Given the description of an element on the screen output the (x, y) to click on. 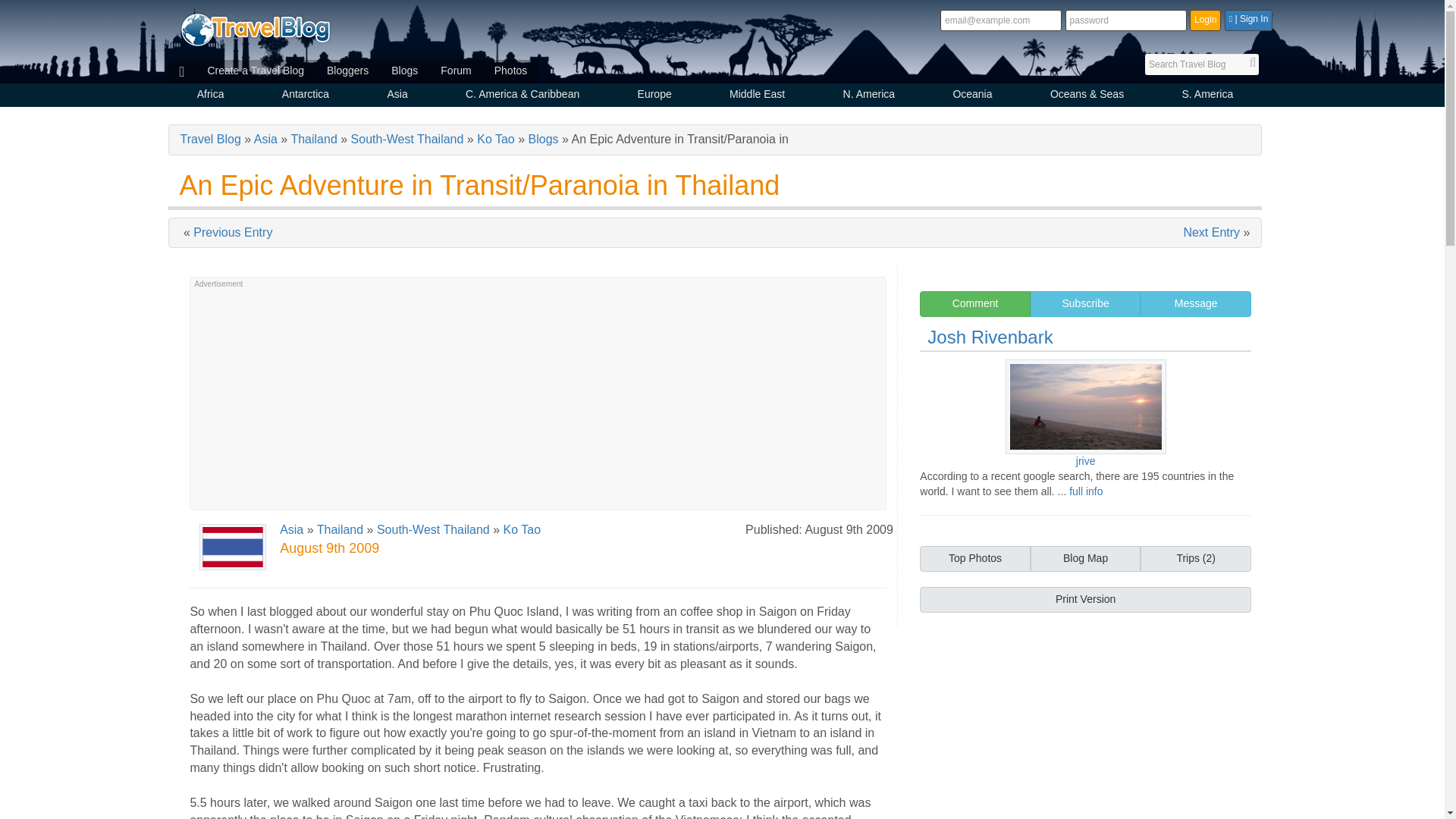
Photos (510, 71)
N. America (868, 95)
S. America (1207, 95)
Blogs (404, 71)
Europe (654, 95)
Bloggers (347, 71)
Send a Private Message to Josh Rivenbark (1195, 303)
Oceania (972, 95)
Africa (210, 95)
Asia (397, 95)
Sign in with Facebook (1248, 20)
Login (1205, 20)
Login (1205, 20)
Middle East (756, 95)
Create a Travel Blog (255, 71)
